Given the description of an element on the screen output the (x, y) to click on. 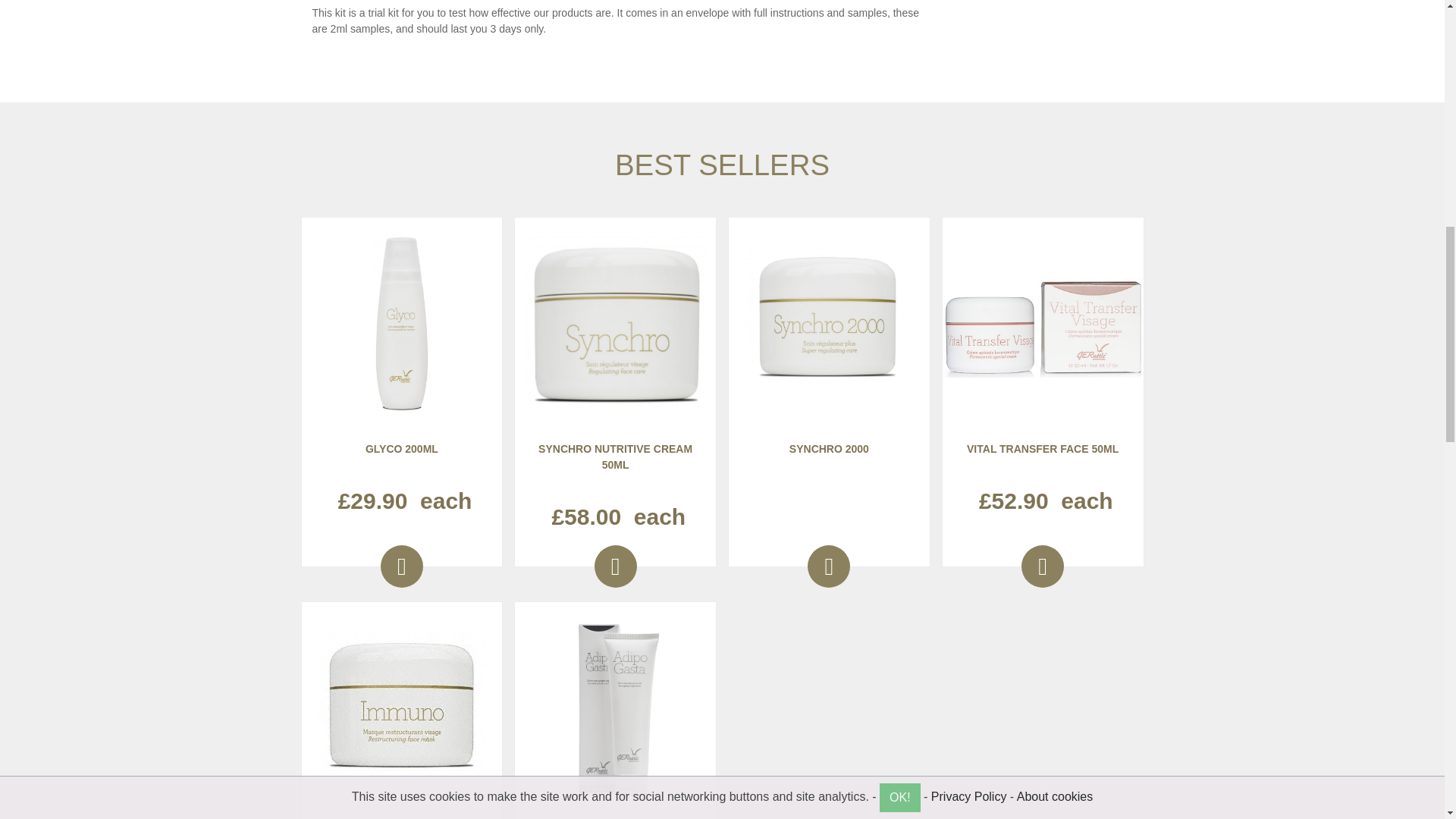
Synchro 2000 (828, 323)
Immuno 50ml Restructuring face mask (401, 707)
Synchro Nutritive Cream 50ml (615, 323)
Glyco 200ml (401, 323)
Vital Transfer  Face 50ml (1042, 323)
